Given the description of an element on the screen output the (x, y) to click on. 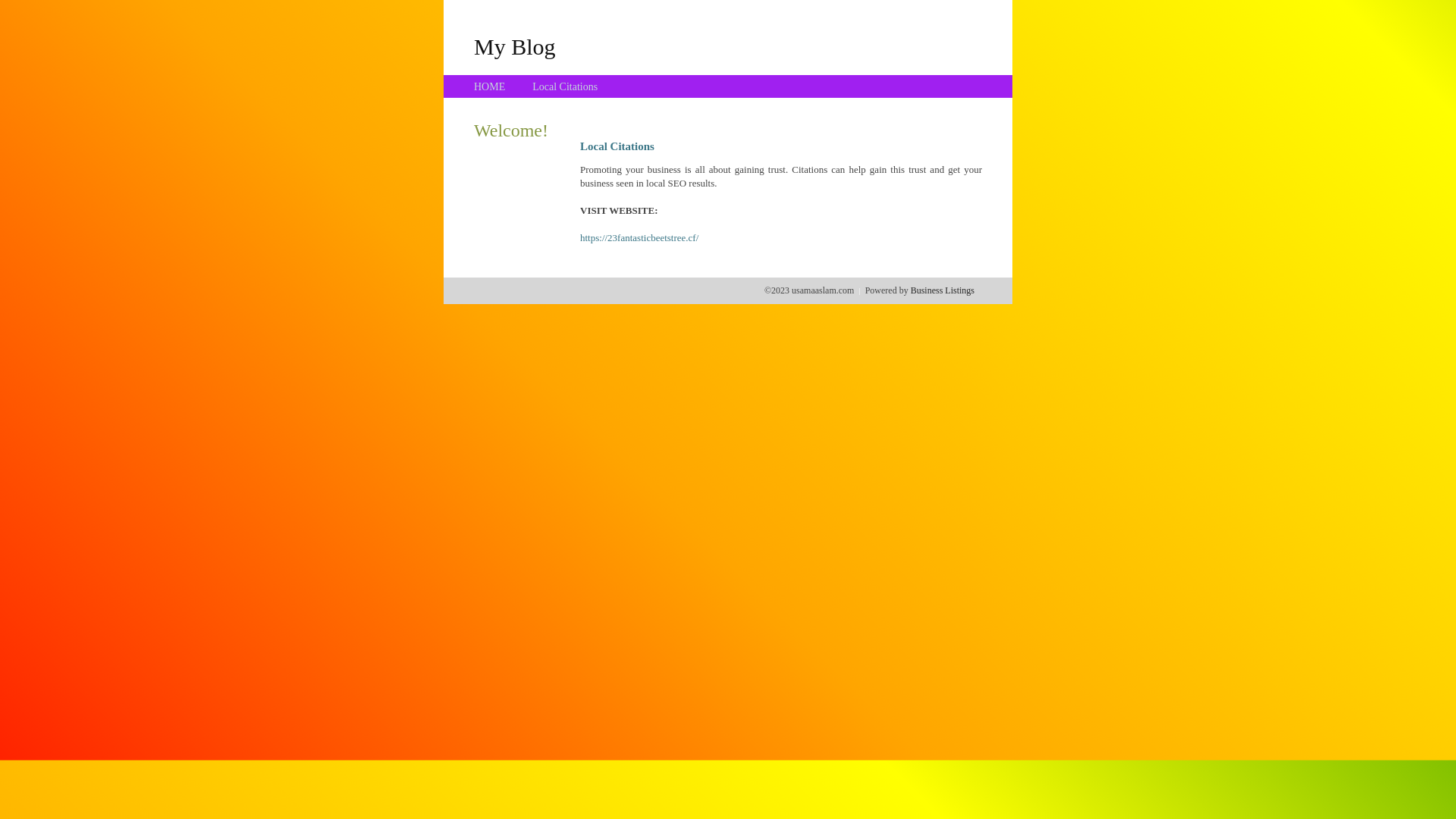
My Blog Element type: text (514, 46)
HOME Element type: text (489, 86)
Business Listings Element type: text (942, 290)
Local Citations Element type: text (564, 86)
https://23fantasticbeetstree.cf/ Element type: text (639, 237)
